Given the description of an element on the screen output the (x, y) to click on. 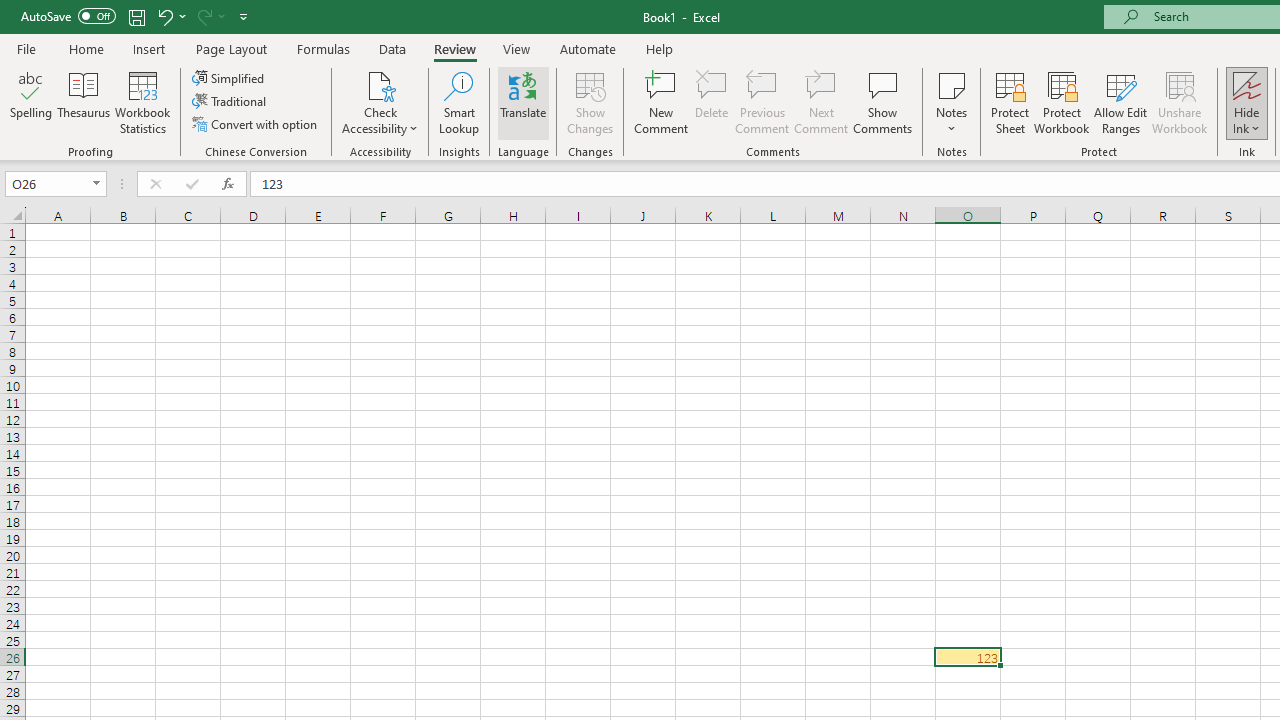
Allow Edit Ranges (1120, 102)
Unshare Workbook (1179, 102)
Show Comments (883, 102)
Show Changes (589, 102)
Workbook Statistics (142, 102)
Translate (523, 102)
New Comment (661, 102)
Simplified (230, 78)
